Given the description of an element on the screen output the (x, y) to click on. 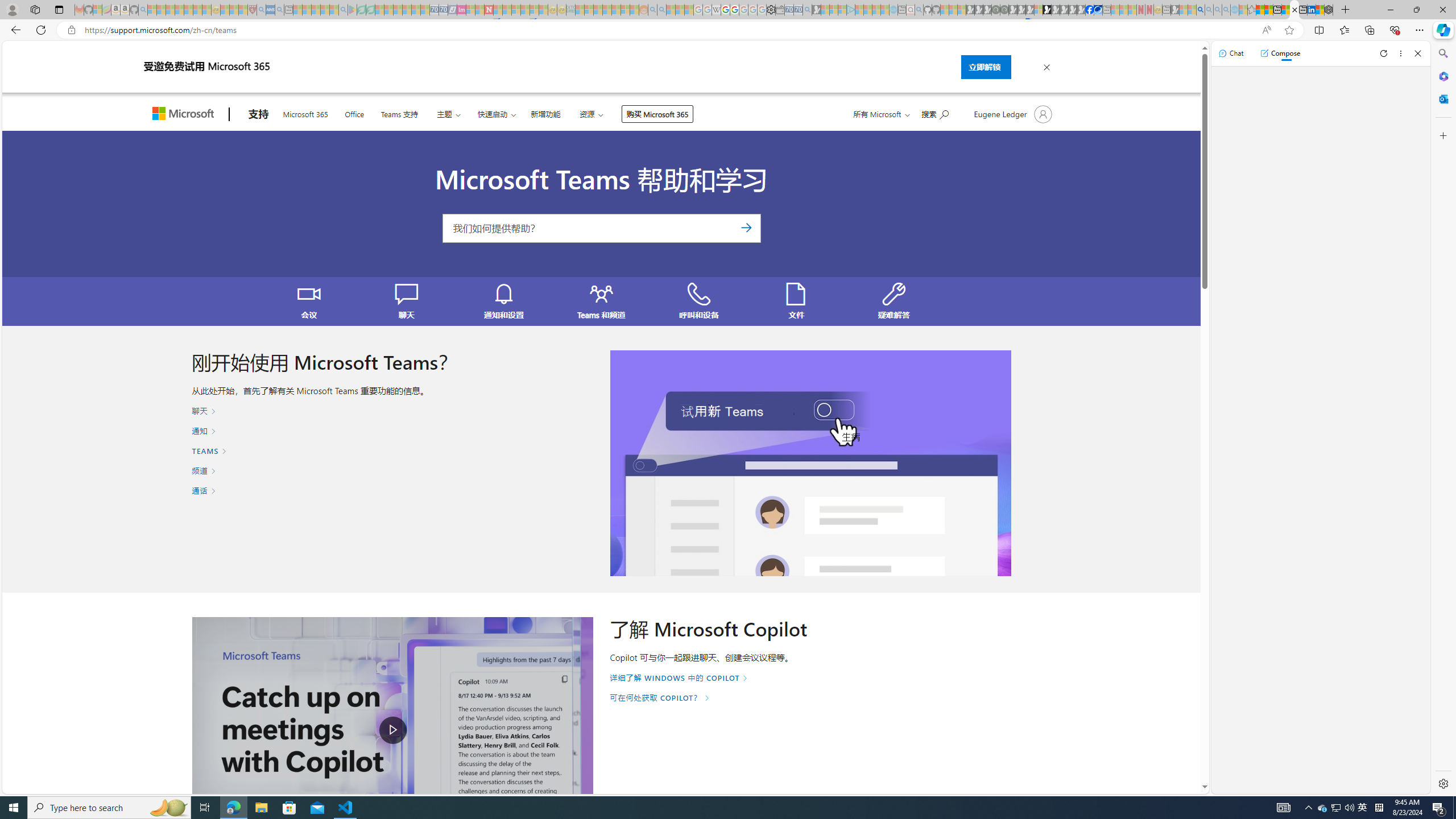
AQI & Health | AirNow.gov (1098, 9)
Nordace | Facebook (1089, 9)
